Given the description of an element on the screen output the (x, y) to click on. 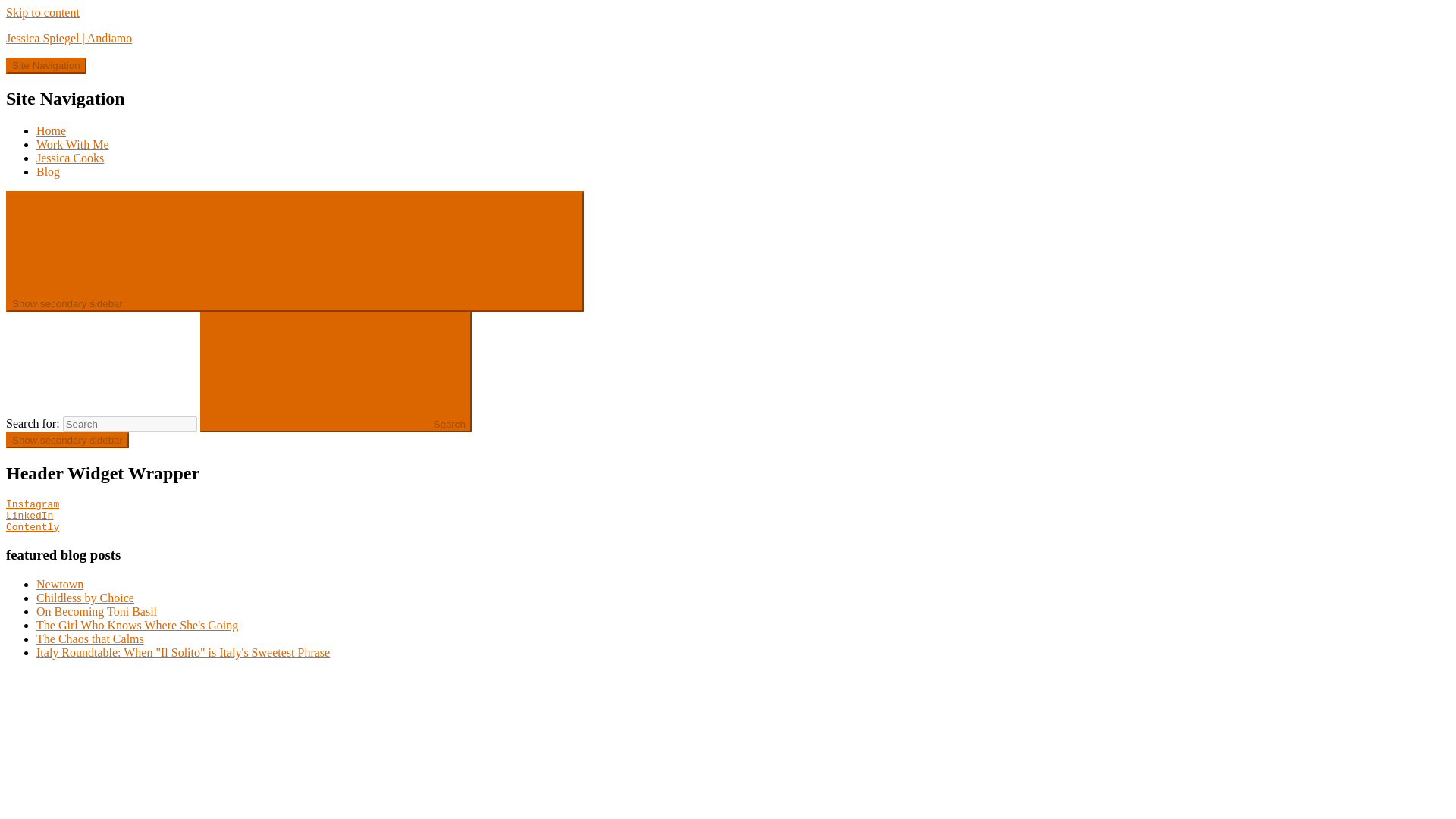
Newtown (59, 584)
Site Navigation (45, 65)
The Girl Who Knows Where She's Going (137, 625)
On Becoming Toni Basil (96, 611)
Blog (47, 171)
Contently (32, 527)
LinkedIn (28, 515)
Show secondary sidebar (294, 251)
Instagram (32, 504)
Search (335, 372)
